Given the description of an element on the screen output the (x, y) to click on. 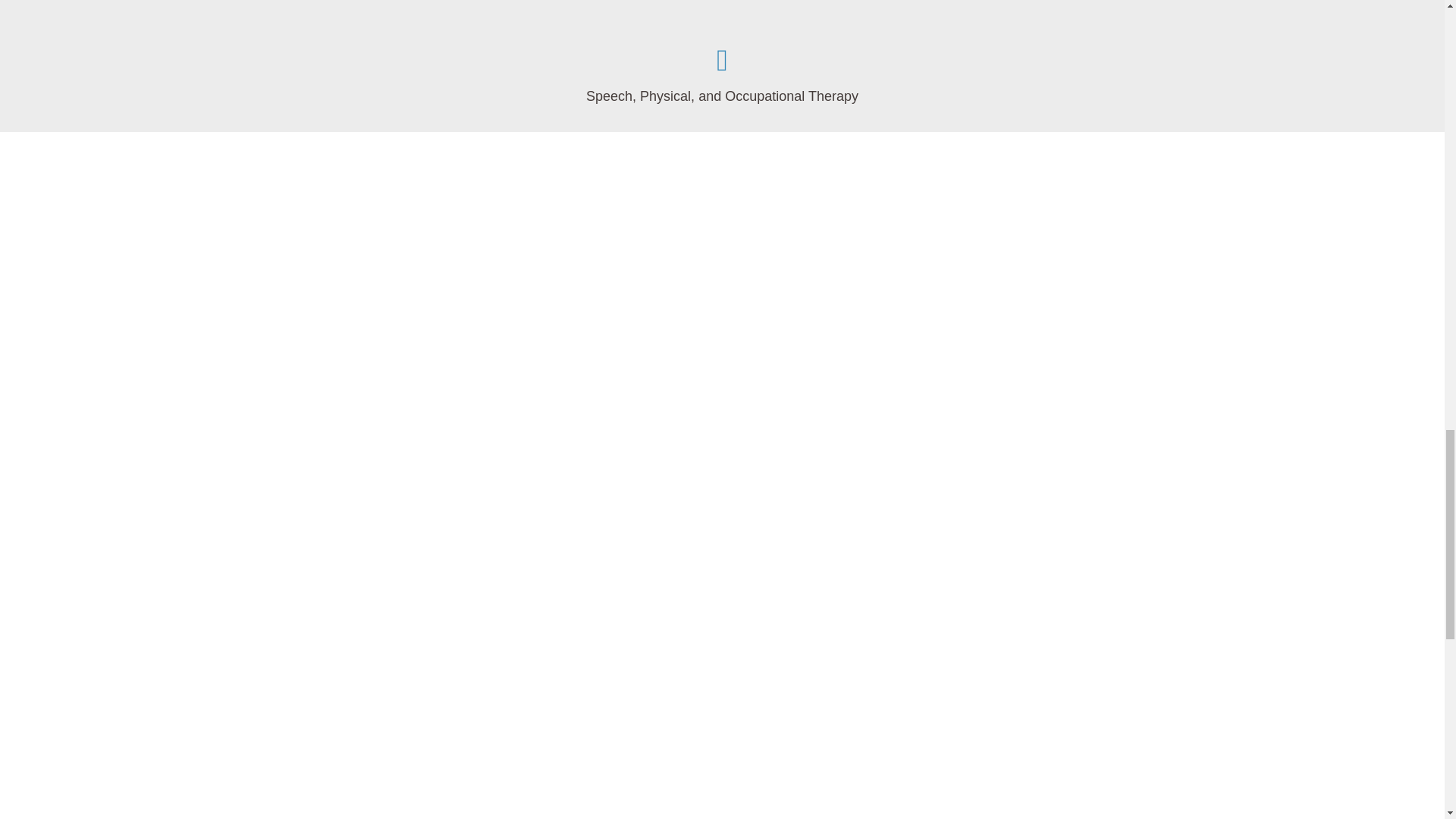
601 N Boeke Rd  Evansville, IN 47711 (721, 15)
Submit (753, 711)
